Given the description of an element on the screen output the (x, y) to click on. 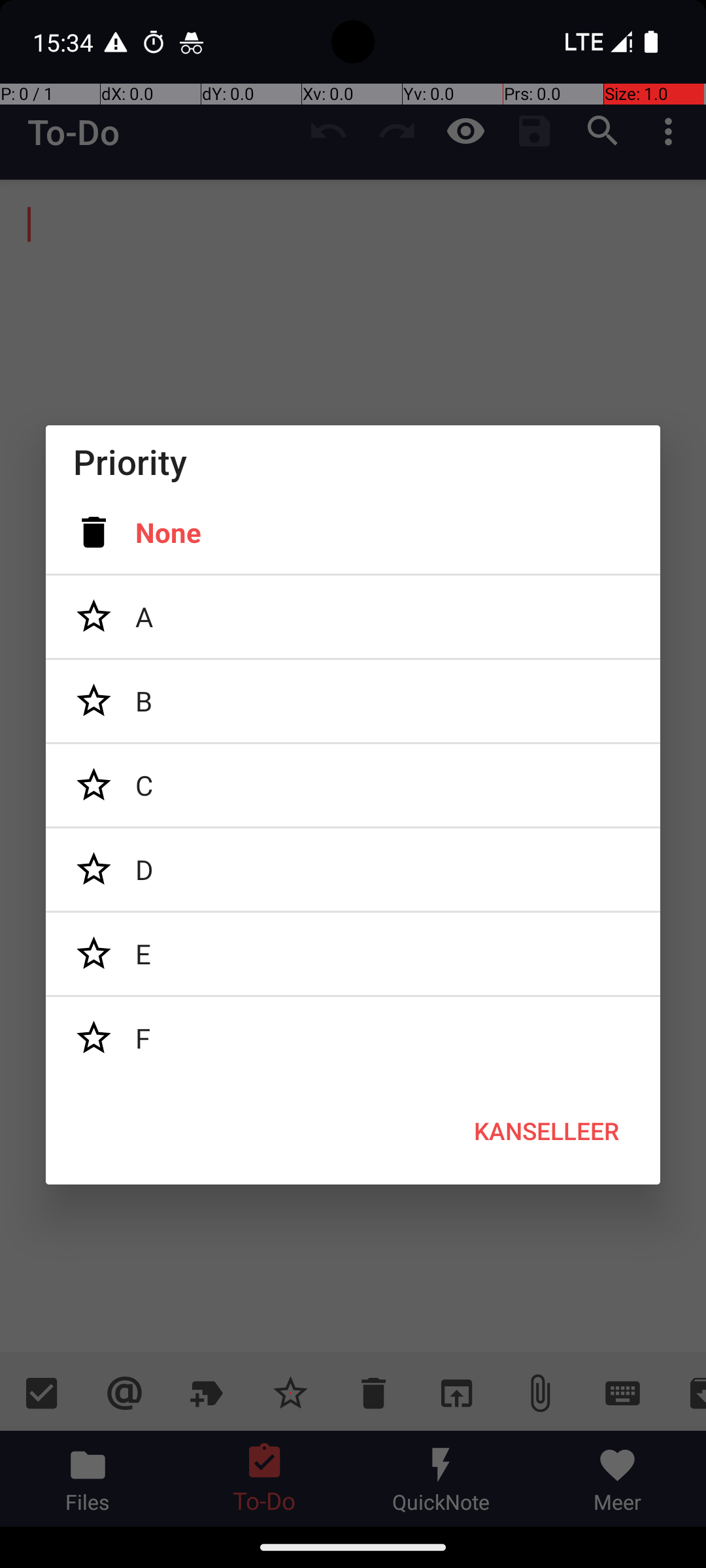
Priority Element type: android.widget.TextView (352, 461)
None Element type: android.widget.TextView (352, 532)
A Element type: android.widget.TextView (352, 616)
B Element type: android.widget.TextView (352, 700)
C Element type: android.widget.TextView (352, 785)
D Element type: android.widget.TextView (352, 869)
E Element type: android.widget.TextView (352, 953)
KANSELLEER Element type: android.widget.Button (546, 1130)
Chrome notification: Incognito Tabs Element type: android.widget.ImageView (191, 41)
